Given the description of an element on the screen output the (x, y) to click on. 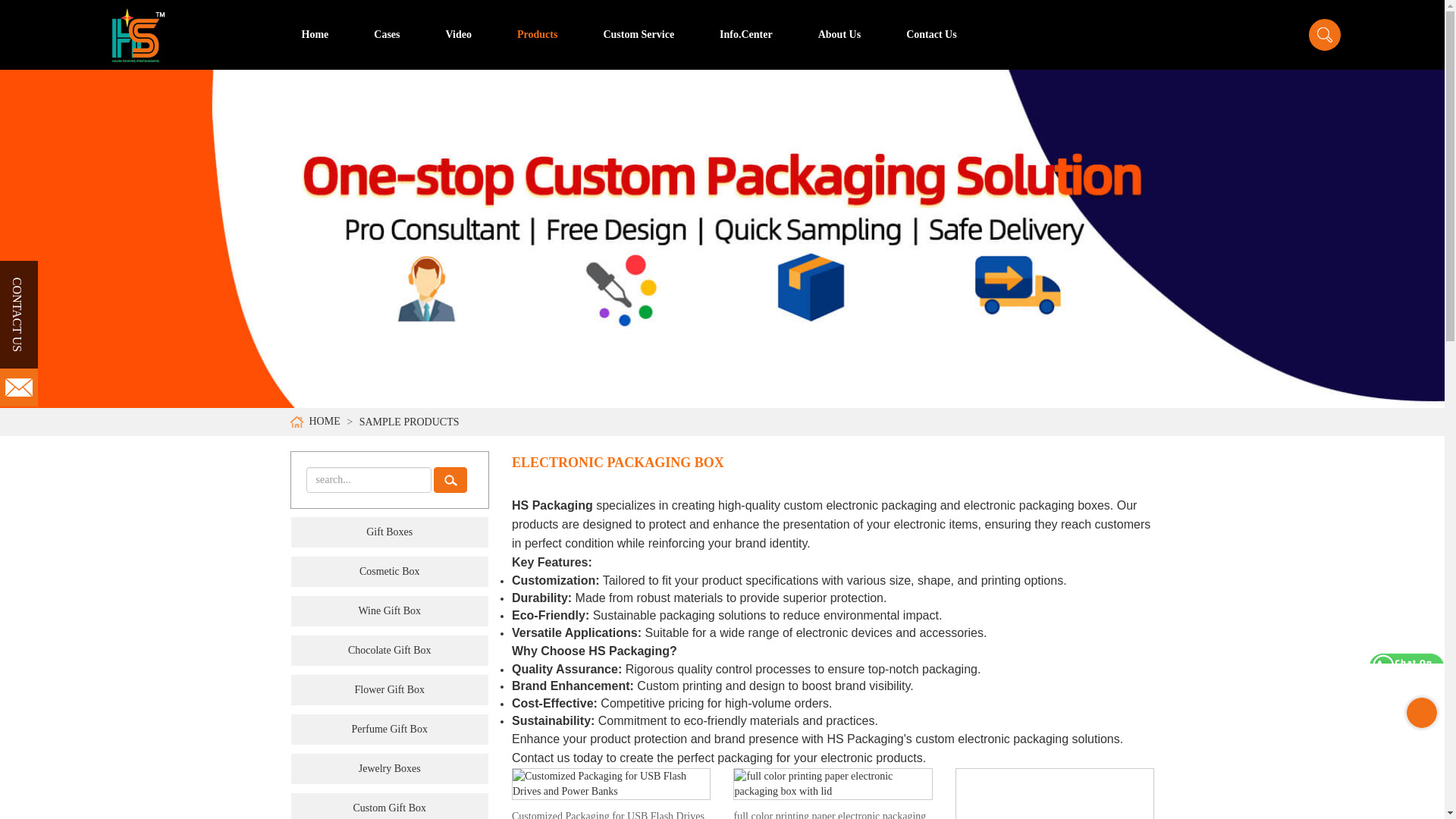
Custom Service (638, 34)
Products (537, 34)
Guangzhou Huai Sheng Packaging Inc.,Ltd. (138, 34)
Video (458, 34)
Custom Service (638, 34)
Contact Us (931, 34)
Cases (387, 34)
Home (314, 34)
Products (537, 34)
